Given the description of an element on the screen output the (x, y) to click on. 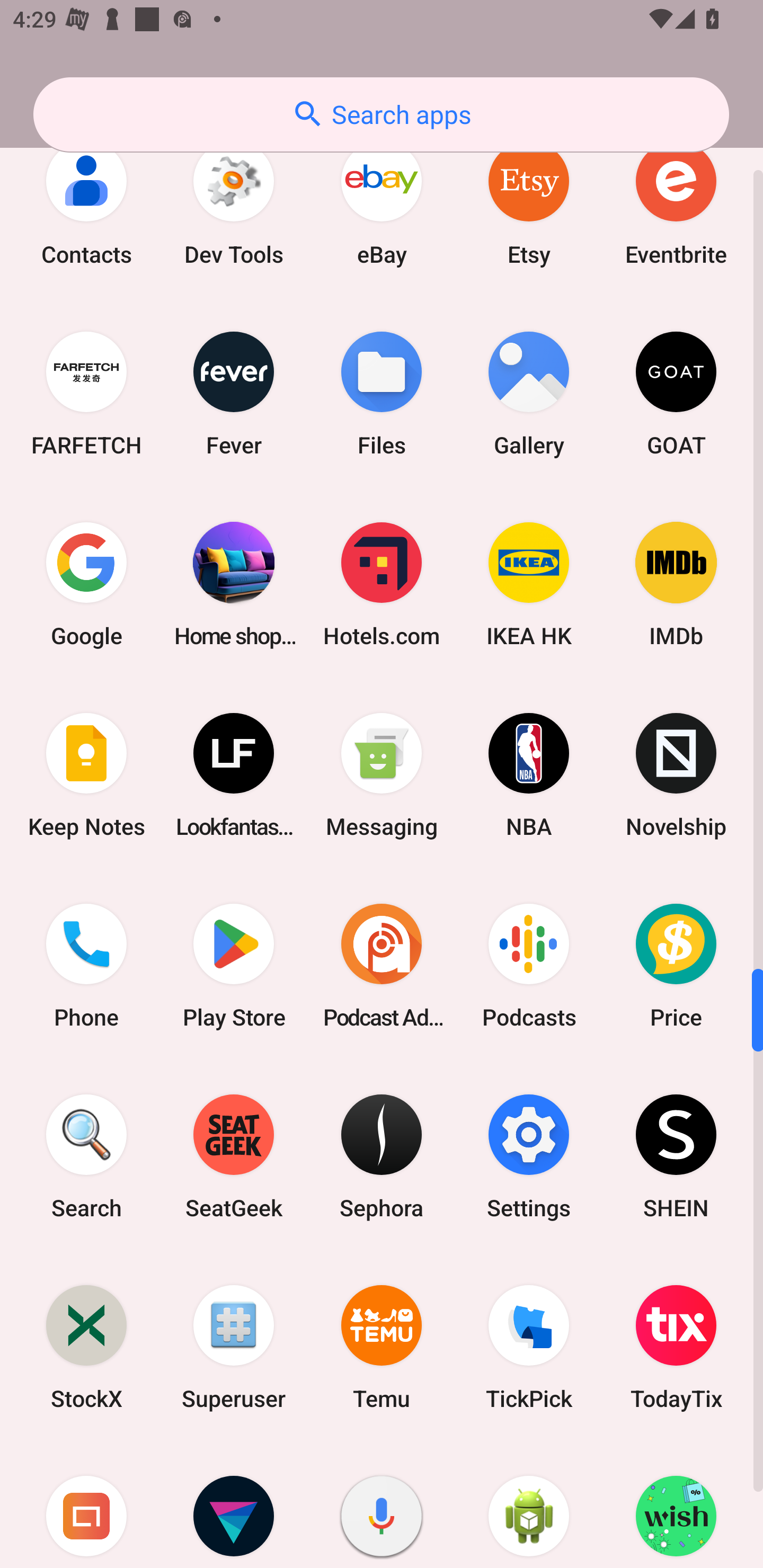
  Search apps (381, 114)
Contacts (86, 202)
Dev Tools (233, 202)
eBay (381, 202)
Etsy (528, 202)
Eventbrite (676, 202)
FARFETCH (86, 393)
Fever (233, 393)
Files (381, 393)
Gallery (528, 393)
GOAT (676, 393)
Google (86, 583)
Home shopping (233, 583)
Hotels.com (381, 583)
IKEA HK (528, 583)
IMDb (676, 583)
Keep Notes (86, 774)
Lookfantastic (233, 774)
Messaging (381, 774)
NBA (528, 774)
Novelship (676, 774)
Phone (86, 965)
Play Store (233, 965)
Podcast Addict (381, 965)
Podcasts (528, 965)
Price (676, 965)
Search (86, 1156)
SeatGeek (233, 1156)
Sephora (381, 1156)
Settings (528, 1156)
SHEIN (676, 1156)
StockX (86, 1346)
Superuser (233, 1346)
Temu (381, 1346)
TickPick (528, 1346)
TodayTix (676, 1346)
Urban Ladder (86, 1505)
Vivid Seats (233, 1505)
Voice Search (381, 1505)
WebView Browser Tester (528, 1505)
Wish (676, 1505)
